Given the description of an element on the screen output the (x, y) to click on. 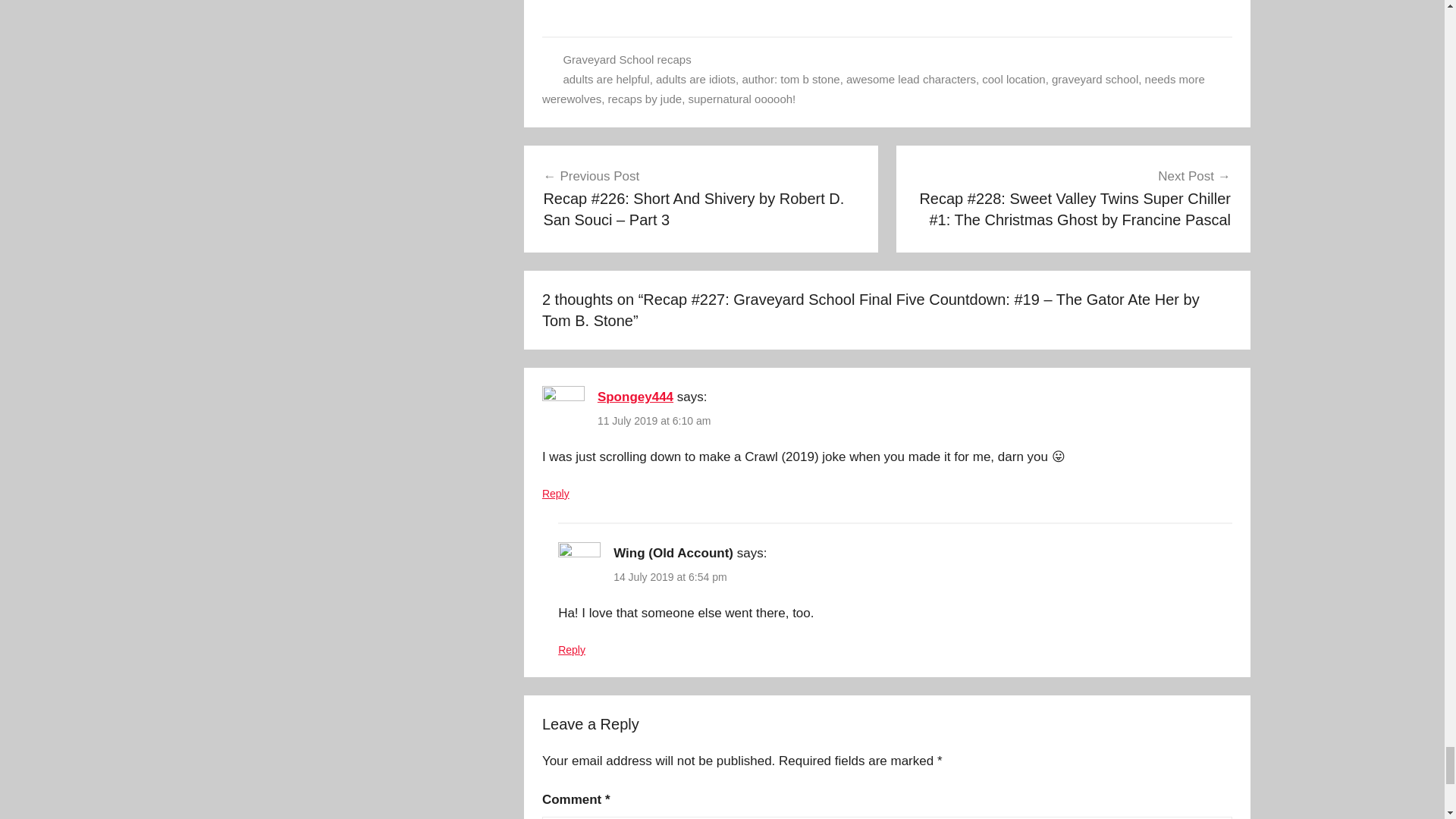
Graveyard School recaps (626, 59)
supernatural oooooh! (742, 98)
Reply (555, 493)
11 July 2019 at 6:10 am (653, 420)
recaps by jude (645, 98)
awesome lead characters (910, 78)
adults are helpful (605, 78)
graveyard school (1094, 78)
Reply (571, 649)
author: tom b stone (790, 78)
